Given the description of an element on the screen output the (x, y) to click on. 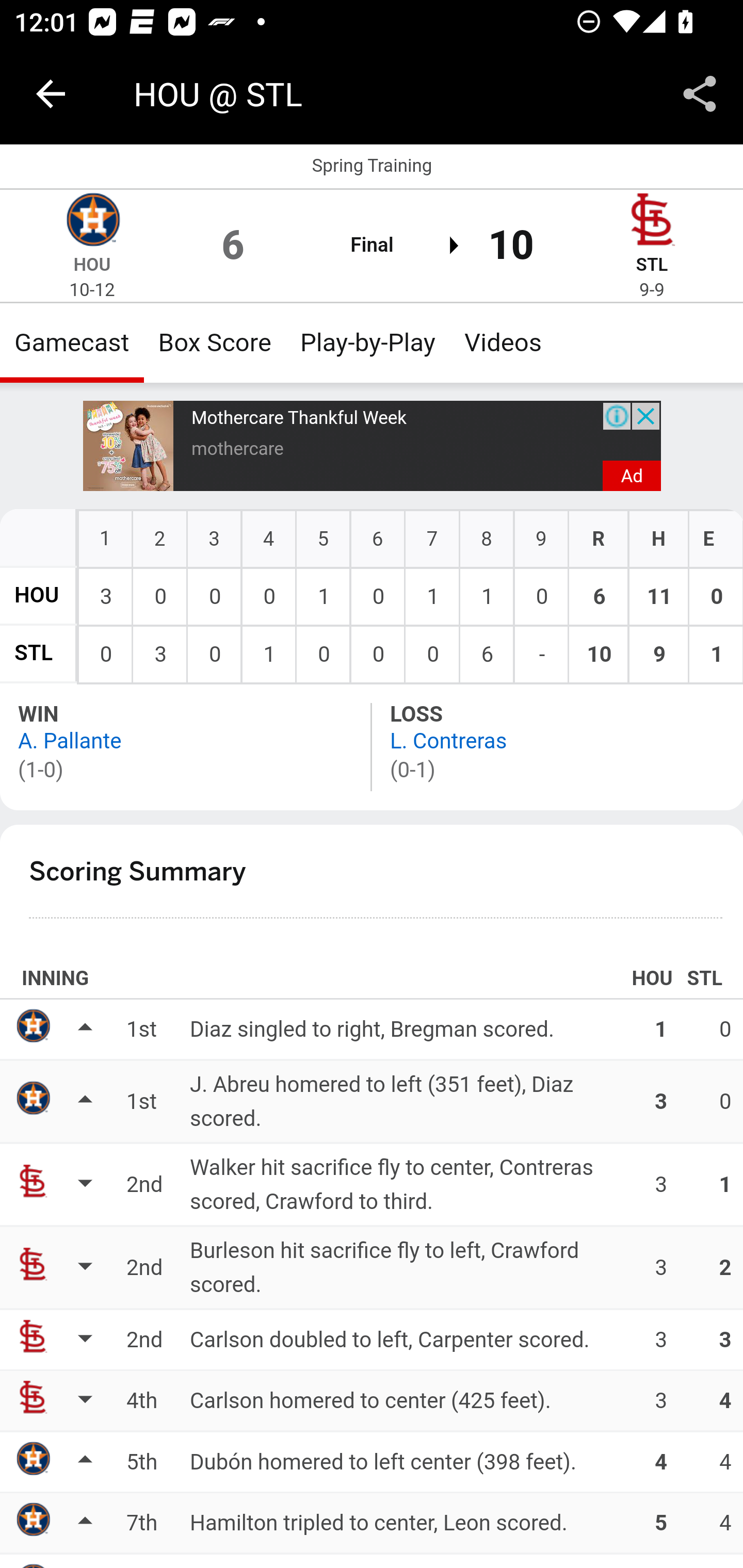
Navigate up (50, 93)
Share (699, 93)
Houston Astros (91, 221)
St. Louis Cardinals (651, 221)
HOU (92, 264)
STL (652, 264)
Gamecast (72, 342)
Box Score (214, 342)
Play-by-Play (368, 342)
Videos (502, 342)
HOU (36, 595)
STL (34, 653)
WIN A. Pallante (1-0) WIN A. Pallante (1-0) (186, 746)
LOSS L. Contreras (0-1) LOSS L. Contreras (0-1) (557, 746)
